Given the description of an element on the screen output the (x, y) to click on. 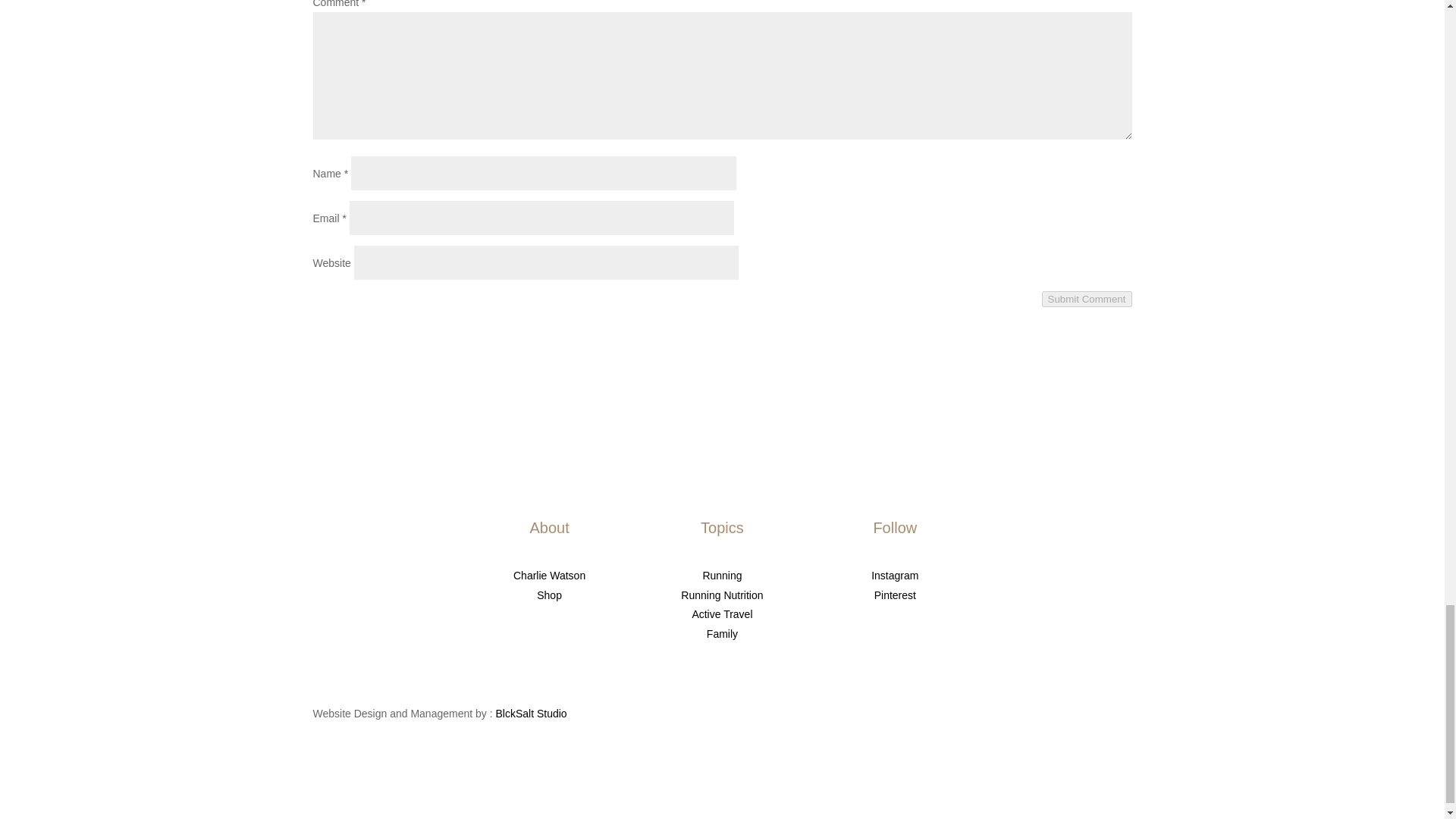
BlckSalt Studio (531, 713)
The Runner Beans (376, 583)
Shop (549, 594)
Active Travel (721, 613)
Instagram (894, 575)
Charlie Watson (549, 575)
Submit Comment (1087, 299)
Pinterest (895, 594)
Running (721, 575)
Family (722, 633)
